Given the description of an element on the screen output the (x, y) to click on. 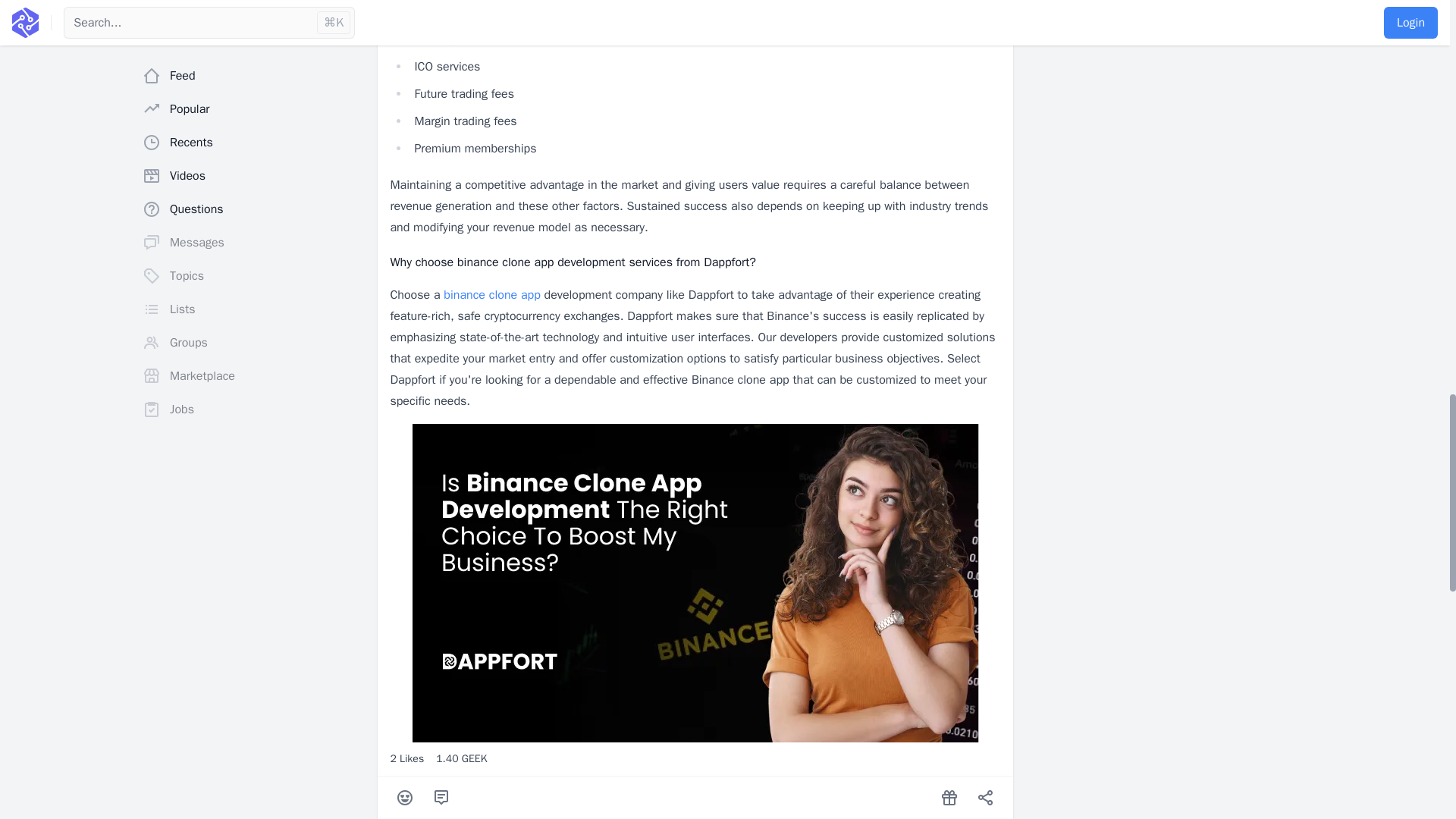
Send me a coffee (948, 797)
Write a comment (441, 797)
Share (986, 797)
binance clone app (492, 294)
Like (405, 797)
